Given the description of an element on the screen output the (x, y) to click on. 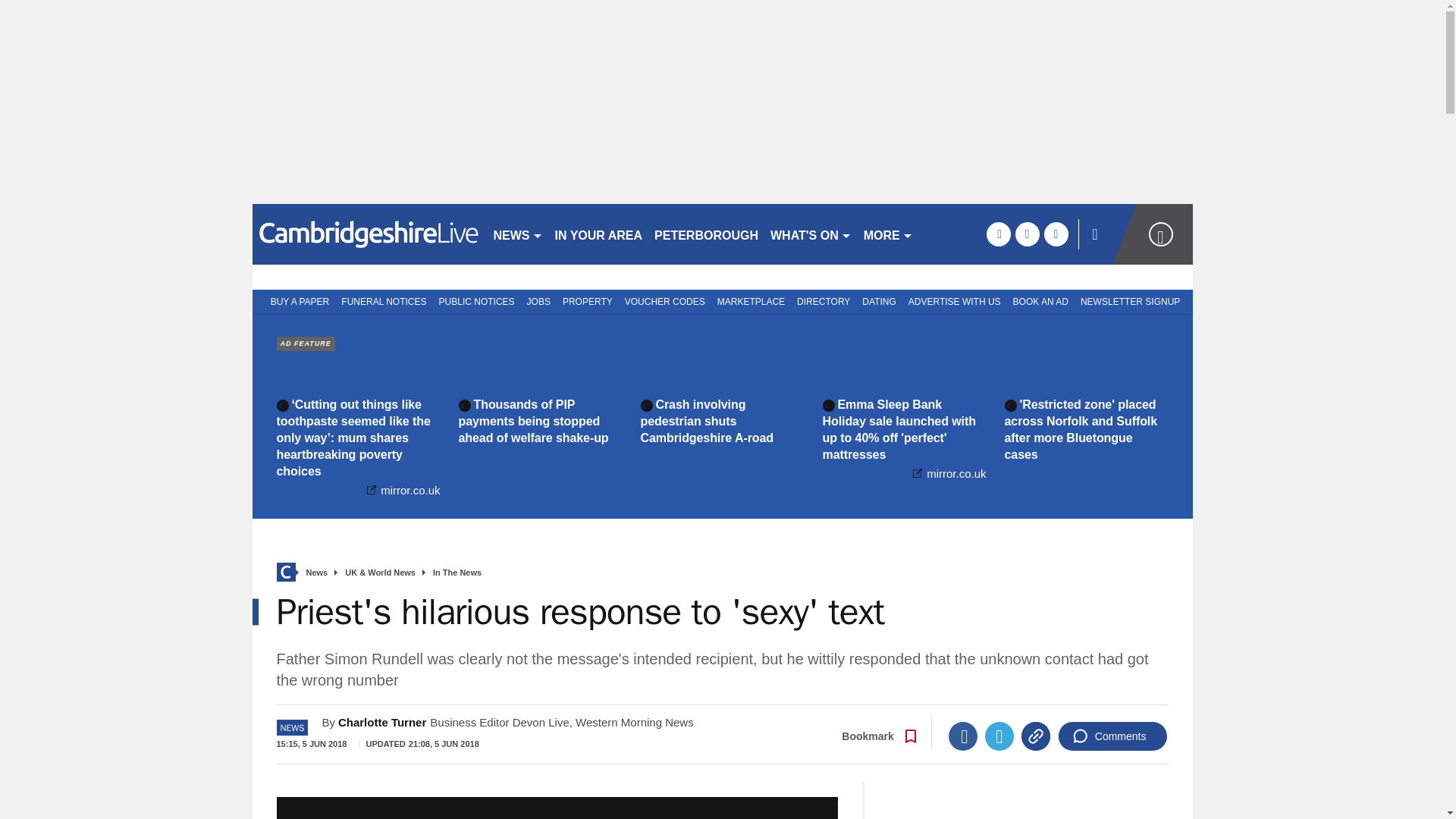
cambridgenews (365, 233)
Facebook (962, 736)
MORE (887, 233)
twitter (1026, 233)
PETERBOROUGH (705, 233)
facebook (997, 233)
instagram (1055, 233)
Twitter (999, 736)
NEWS (517, 233)
WHAT'S ON (810, 233)
